Given the description of an element on the screen output the (x, y) to click on. 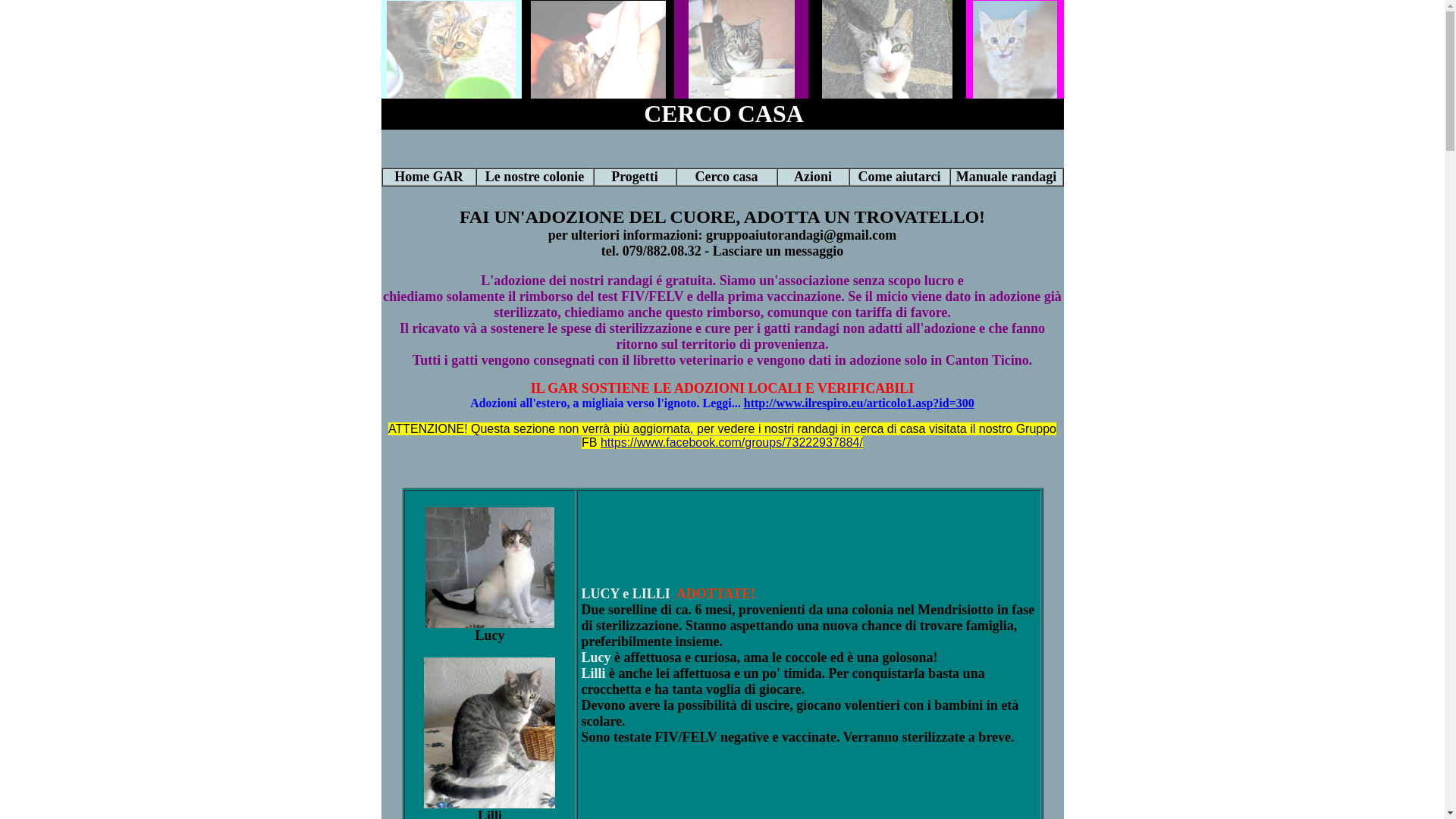
Cerco casa Element type: text (725, 176)
Azioni Element type: text (812, 176)
Le nostre colonie Element type: text (534, 176)
https://www.facebook.com/groups/73222937884/ Element type: text (731, 442)
Come aiutarci Element type: text (898, 176)
Manuale randagi Element type: text (1006, 176)
http://www.ilrespiro.eu/articolo1.asp?id=300 Element type: text (858, 402)
GAR Element type: text (448, 177)
Progetti Element type: text (634, 177)
Home Element type: text (413, 176)
